Given the description of an element on the screen output the (x, y) to click on. 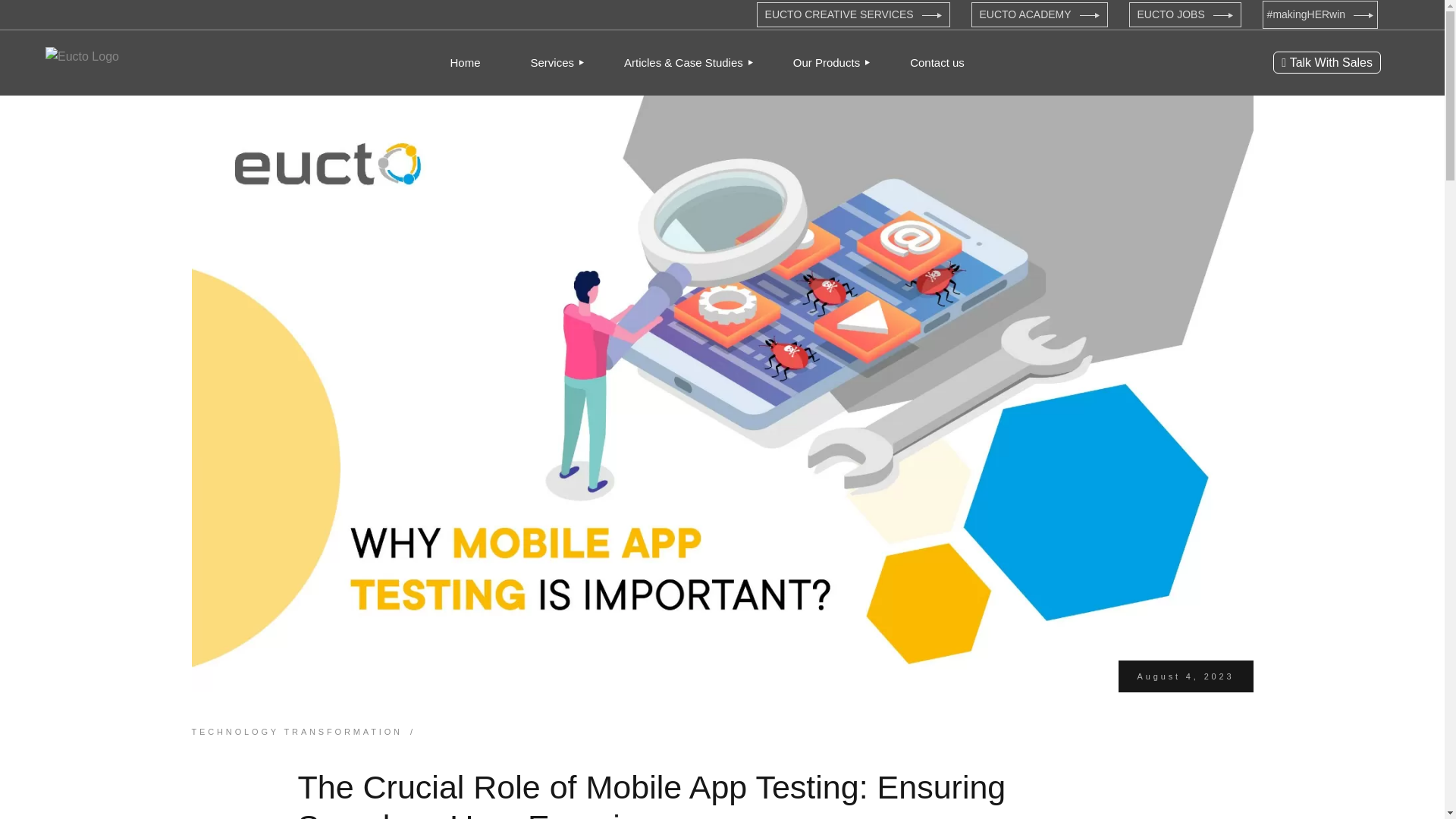
Services (553, 62)
EUCTO ACADEMY (1039, 14)
EUCTO CREATIVE SERVICES (853, 14)
EUCTO JOBS (1185, 14)
Our Products (826, 62)
Home (464, 62)
